Given the description of an element on the screen output the (x, y) to click on. 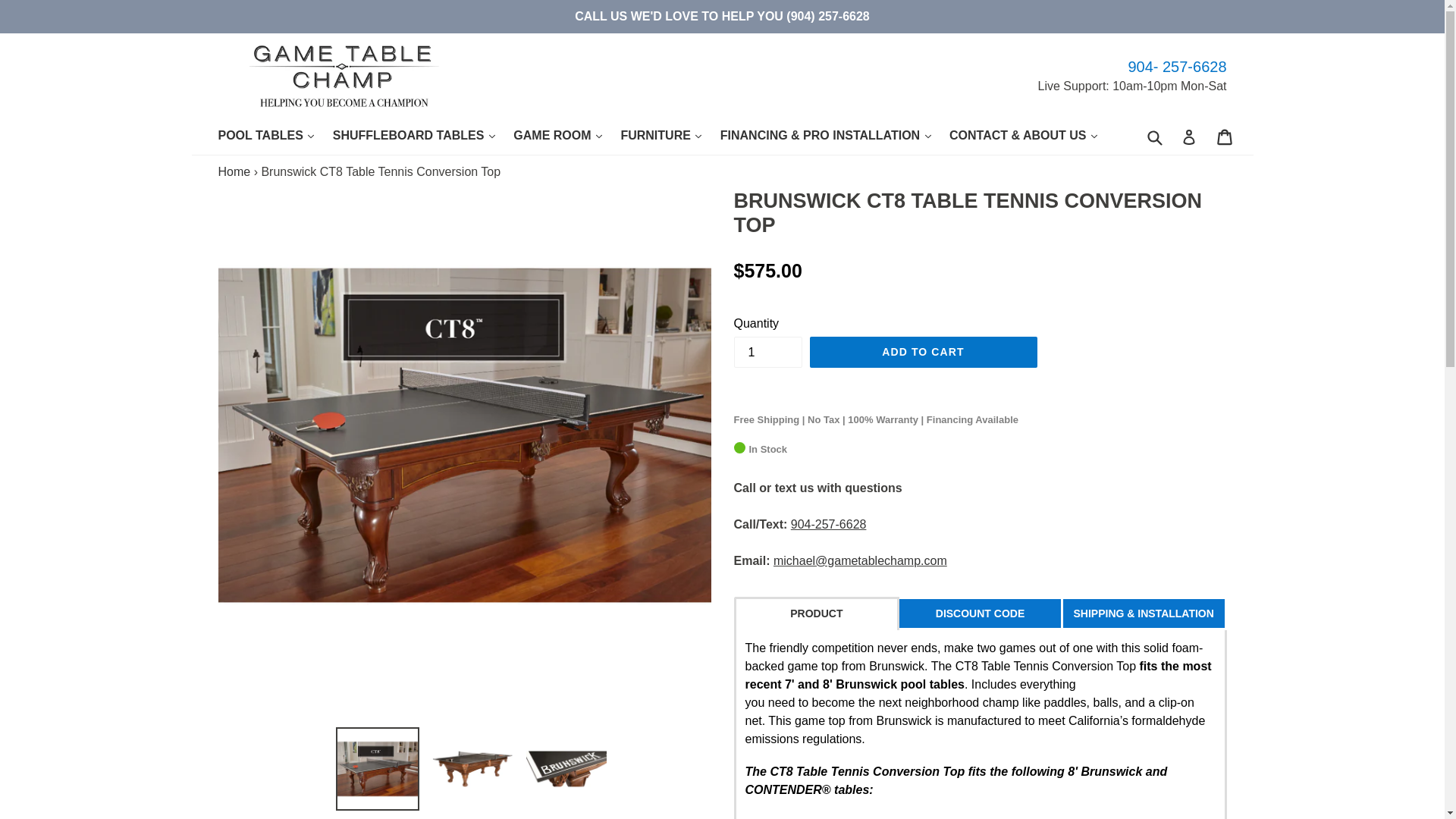
1 (767, 351)
Home (234, 171)
